Given the description of an element on the screen output the (x, y) to click on. 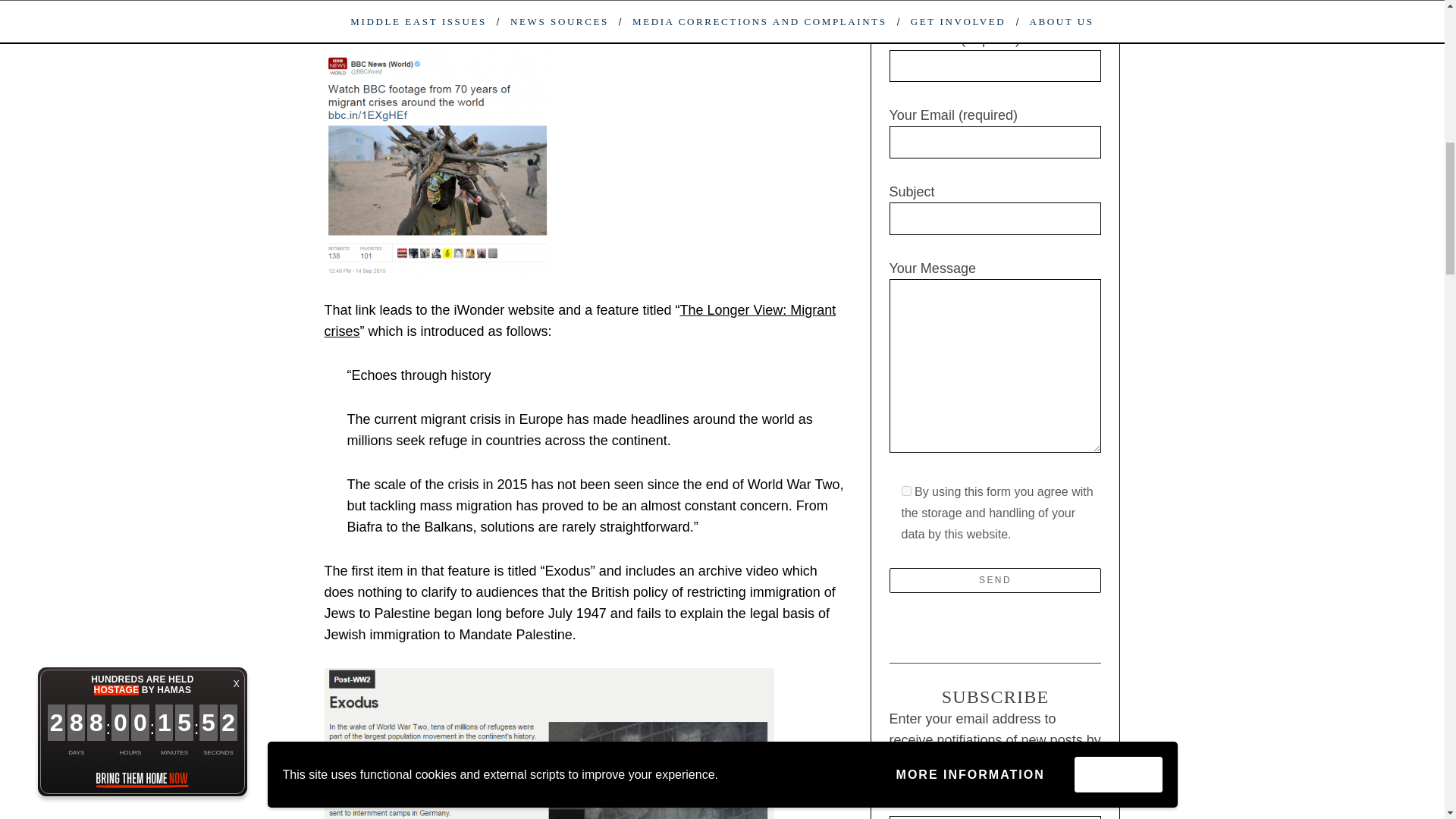
1 (906, 491)
Send (994, 580)
The Longer View: Migrant crises (579, 320)
offered audiences a link (396, 15)
